Given the description of an element on the screen output the (x, y) to click on. 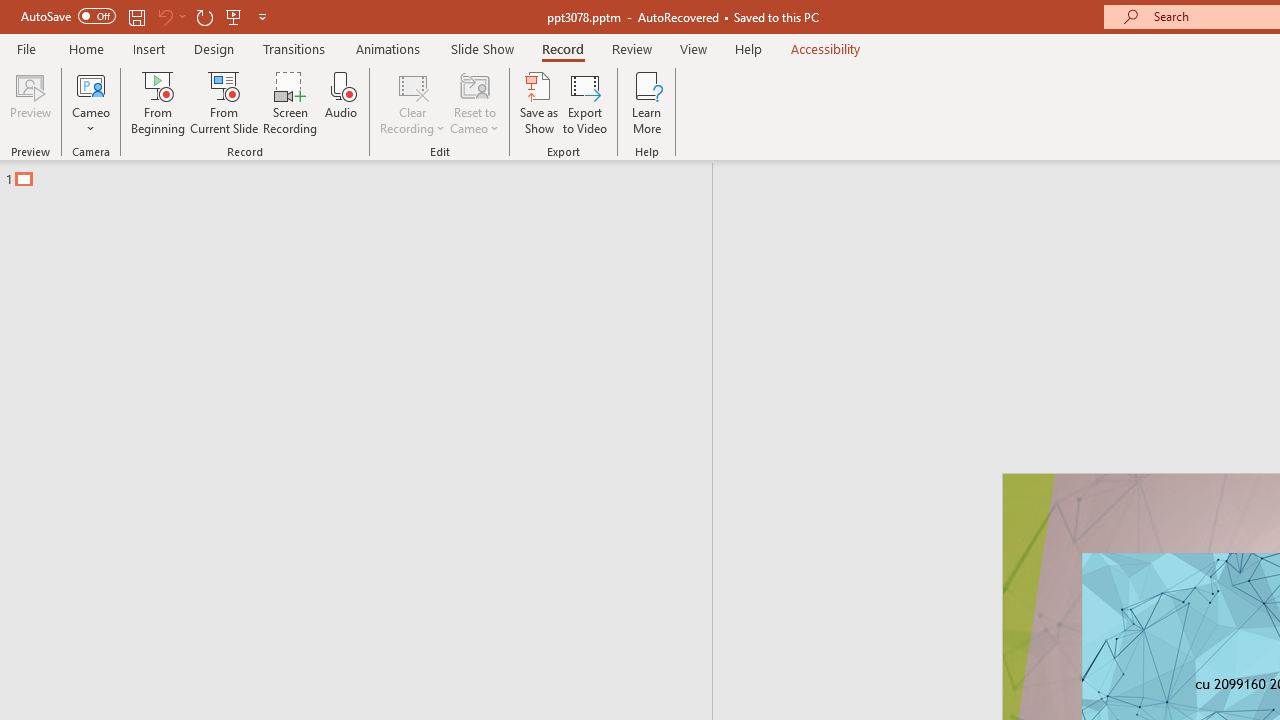
Reset to Cameo (474, 102)
